Given the description of an element on the screen output the (x, y) to click on. 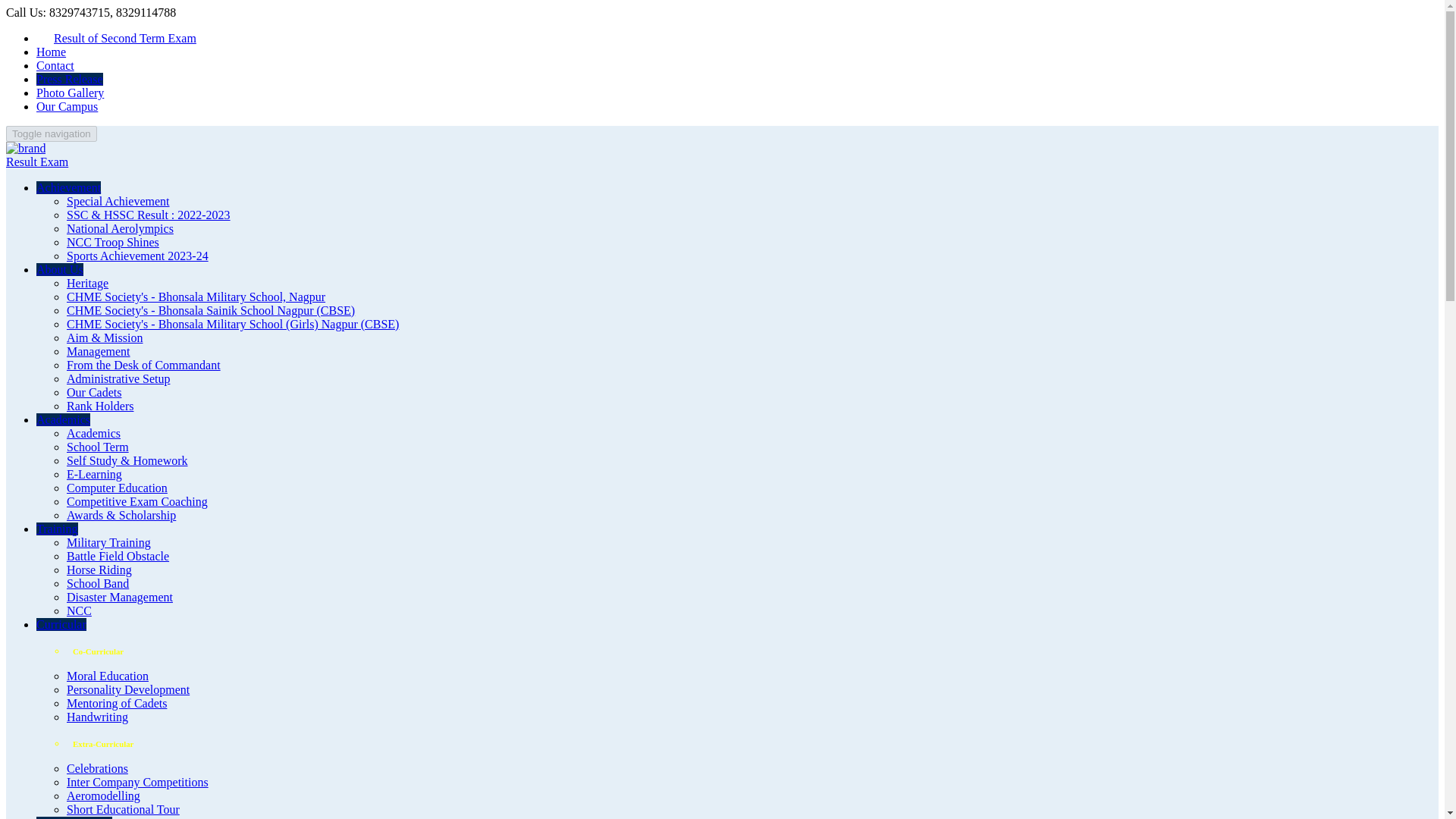
From the Desk of Commandant (143, 364)
Special Achievement (118, 201)
School Band (97, 583)
Achievement (68, 187)
Sports Achievement 2023-24 (137, 255)
National Aerolympics (119, 228)
Administrative Setup (118, 378)
Military Training (108, 542)
E-Learning (94, 473)
Battle Field Obstacle (117, 555)
Toggle navigation (51, 133)
Our Campus (66, 106)
Our Cadets (93, 391)
Result Exam (36, 161)
Computer Education (116, 487)
